Given the description of an element on the screen output the (x, y) to click on. 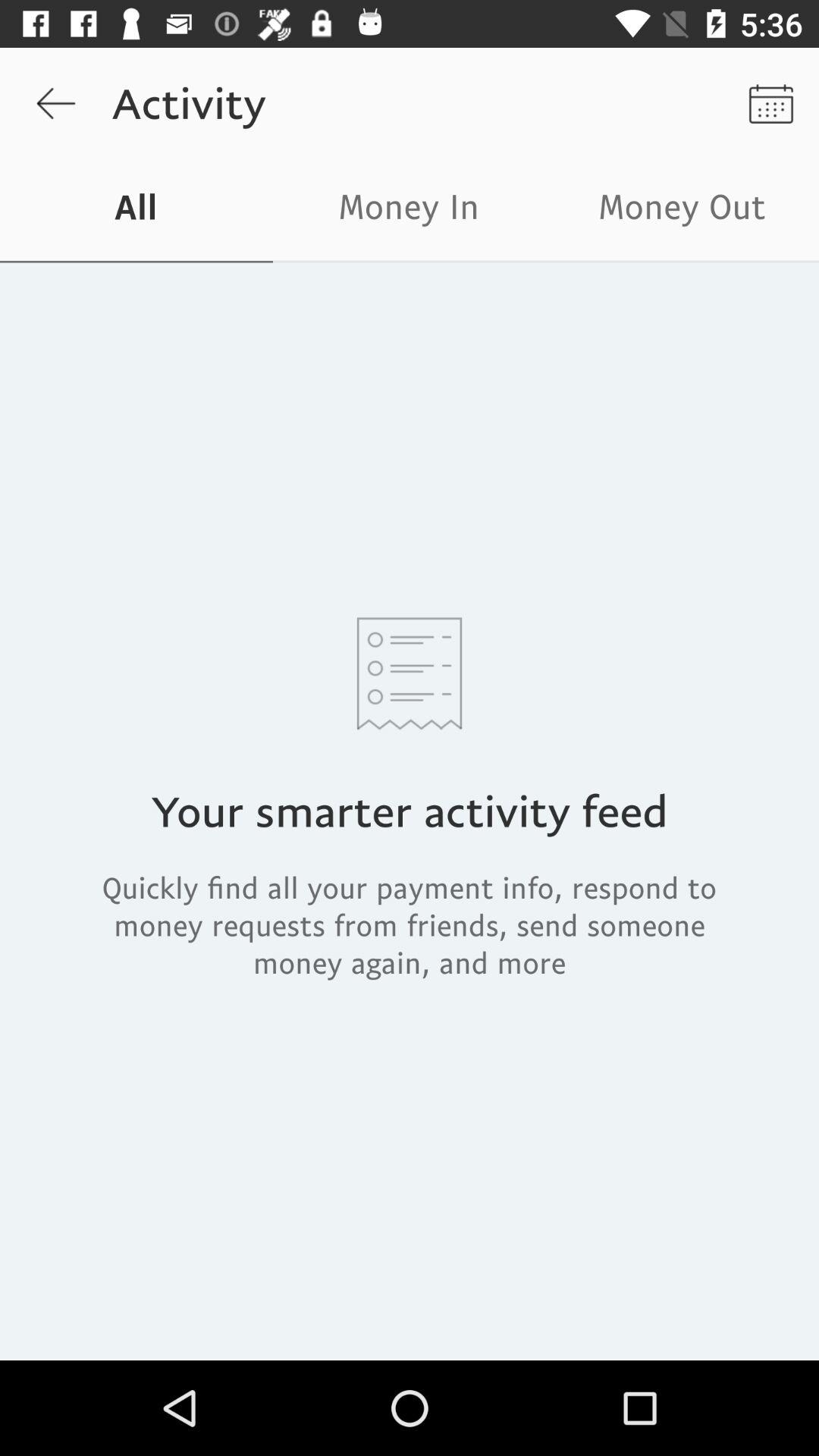
choose icon to the right of the activity icon (771, 103)
